Given the description of an element on the screen output the (x, y) to click on. 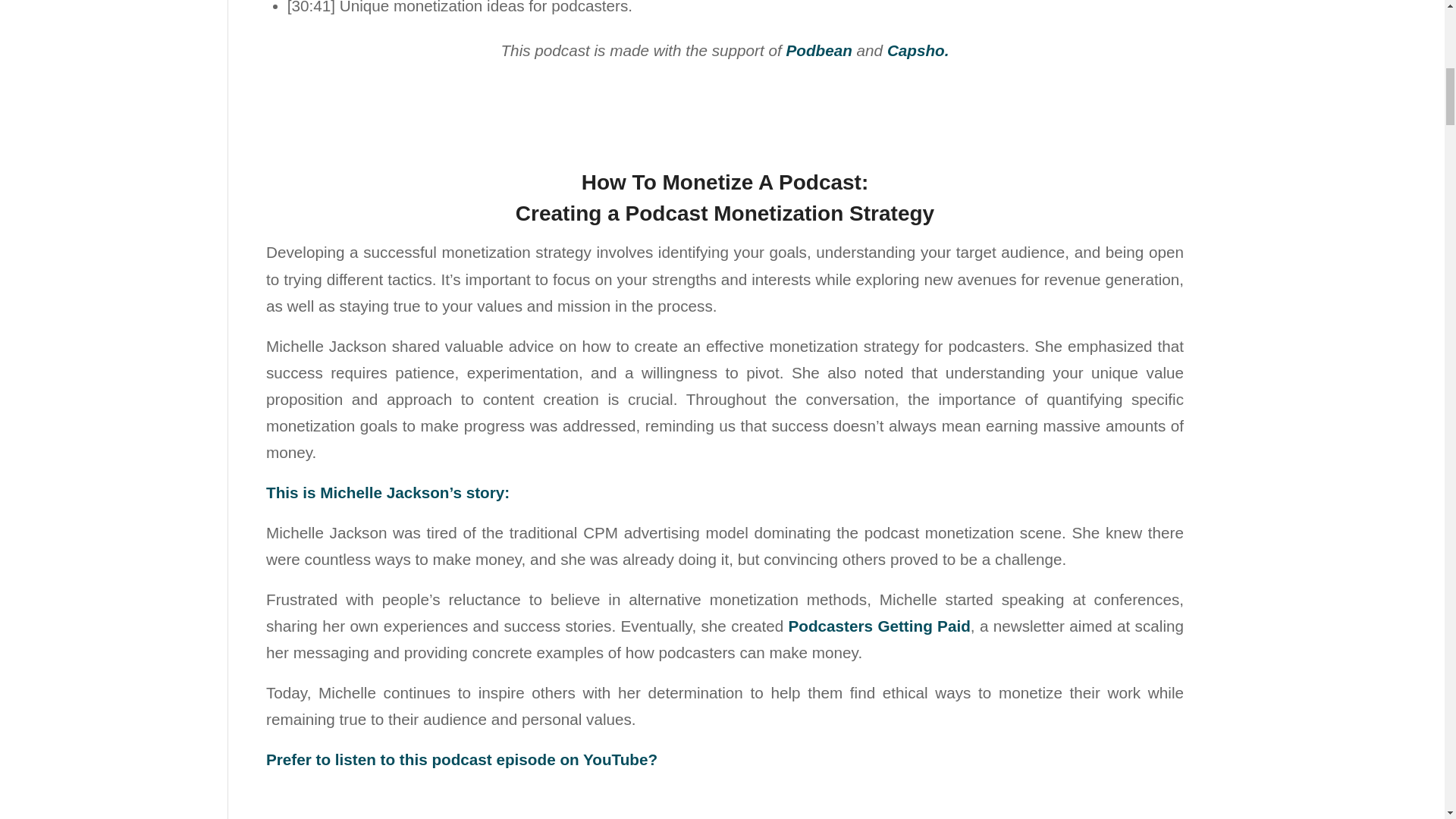
Podcasters Getting Paid (880, 625)
Capsho (915, 49)
Podbean (818, 49)
